Given the description of an element on the screen output the (x, y) to click on. 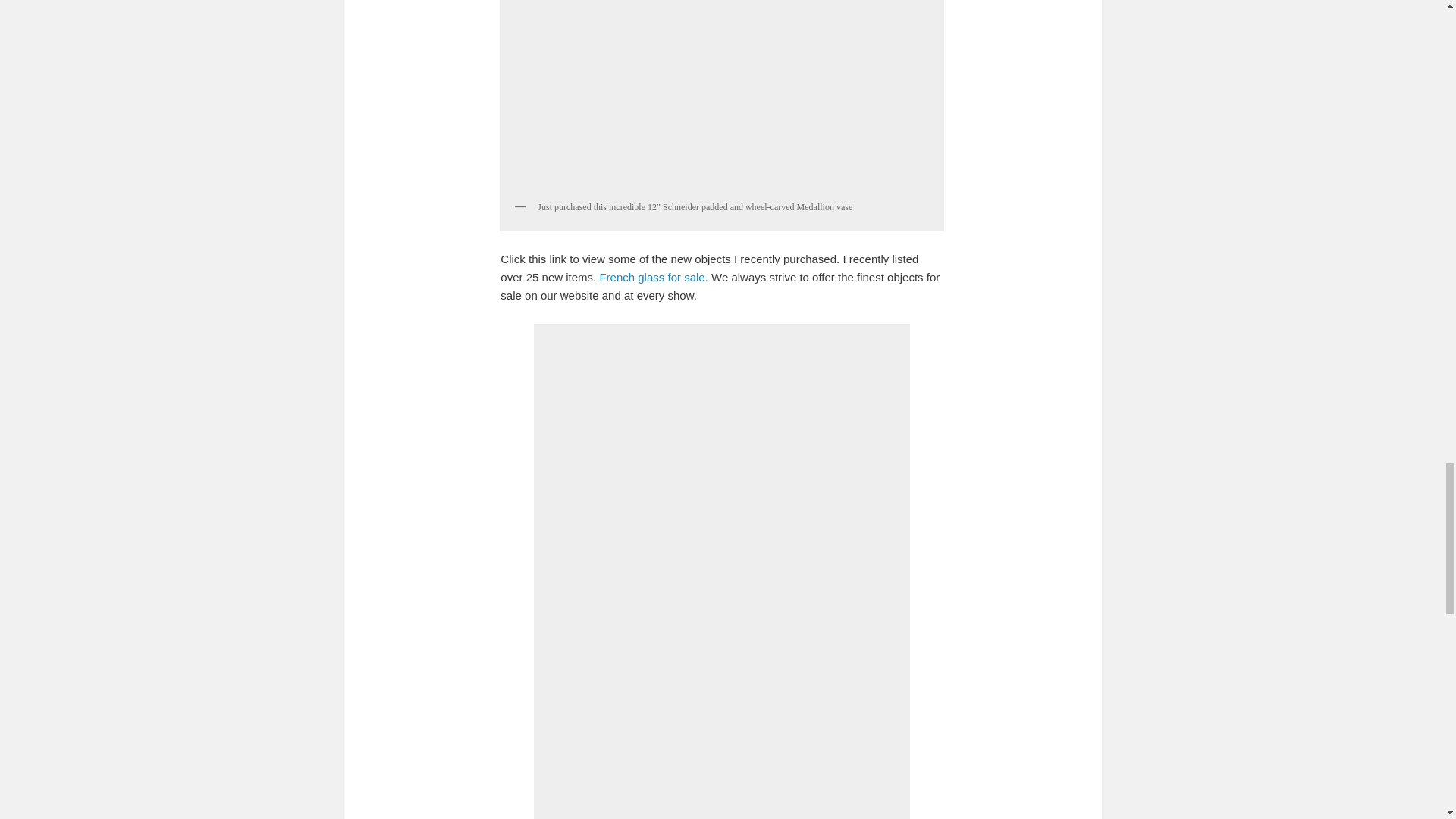
schneider-medallion (721, 96)
French glass for sale. (652, 277)
